Given the description of an element on the screen output the (x, y) to click on. 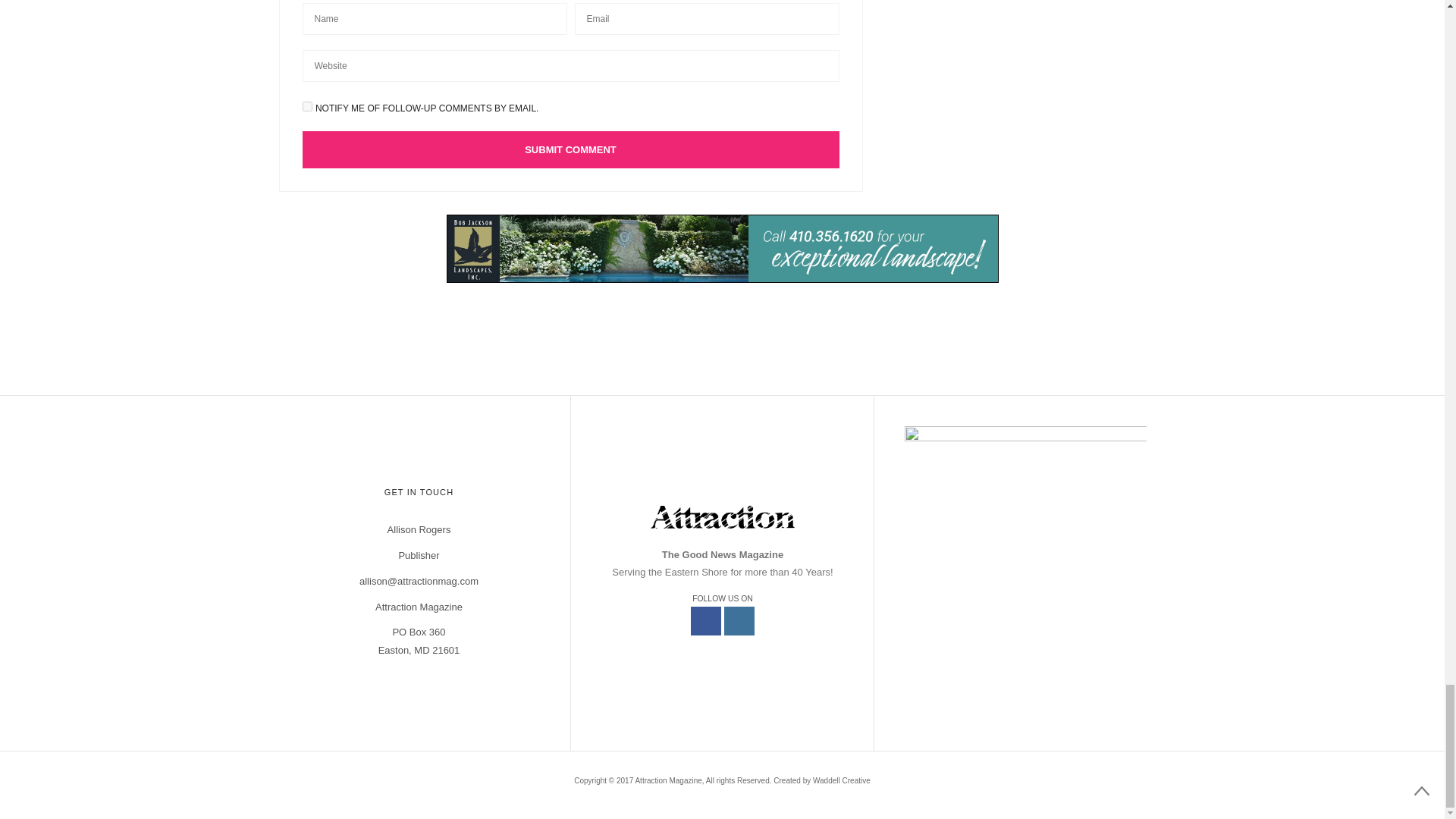
subscribe (306, 106)
Submit Comment (569, 149)
